Given the description of an element on the screen output the (x, y) to click on. 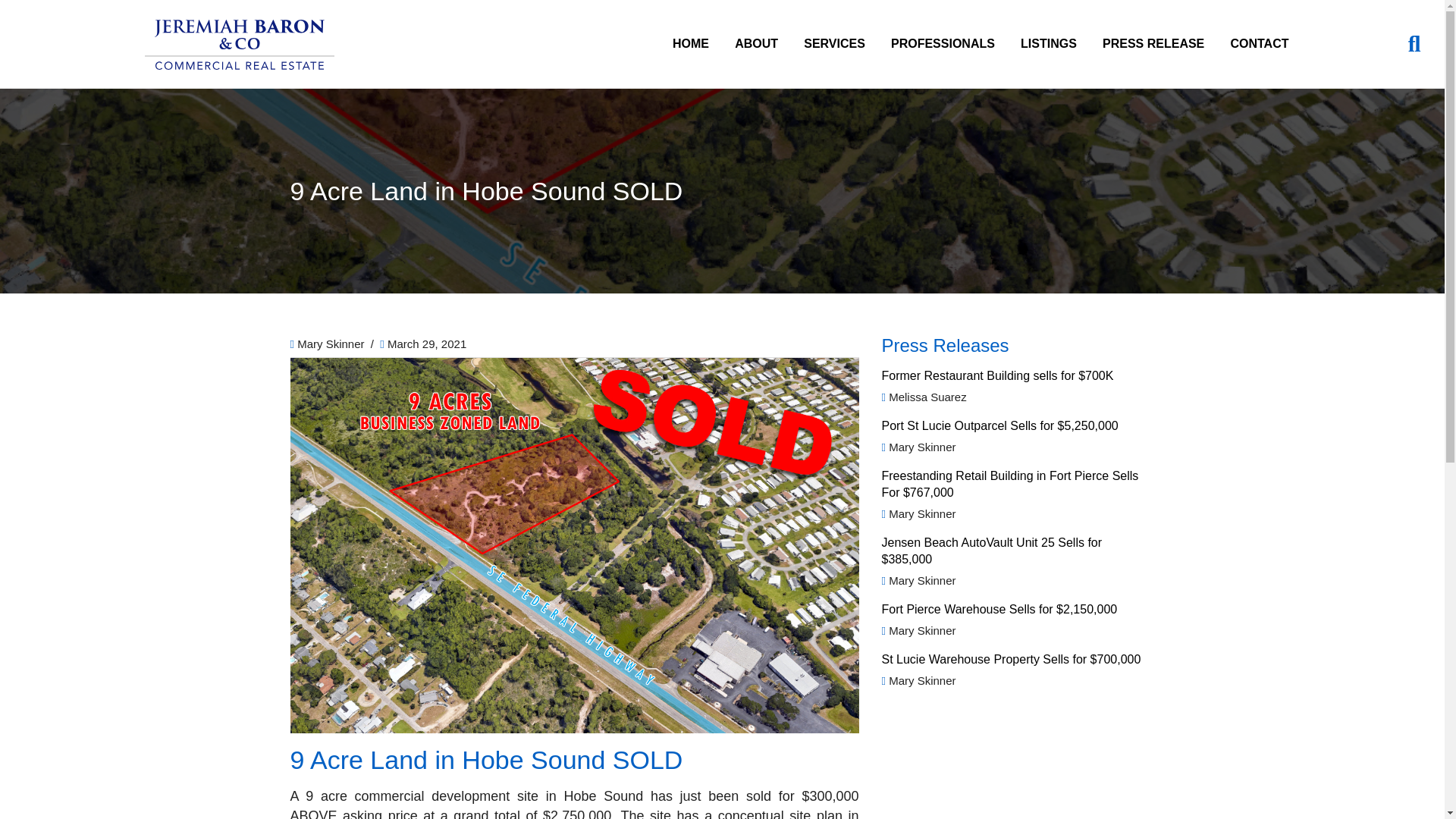
PRESS RELEASE (1153, 43)
PROFESSIONALS (942, 43)
